Given the description of an element on the screen output the (x, y) to click on. 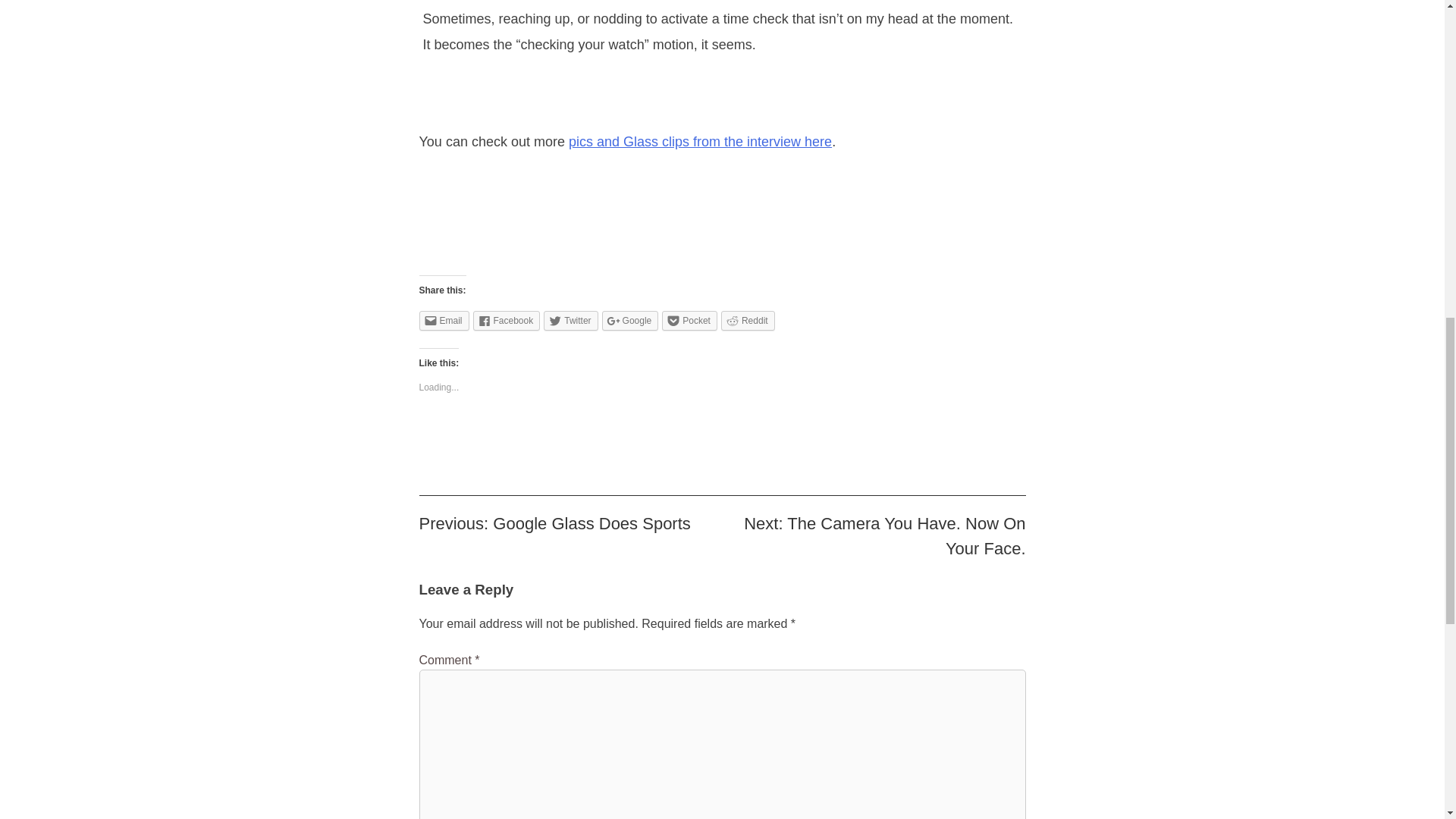
Next: The Camera You Have. Now On Your Face. (884, 535)
Facebook (506, 320)
Google (630, 320)
Pocket (689, 320)
Twitter (569, 320)
Click to email this to a friend (443, 320)
Previous: Google Glass Does Sports (554, 523)
Click to share on Pocket (689, 320)
Click to share on Twitter (569, 320)
pics and Glass clips from the interview here (700, 141)
